Given the description of an element on the screen output the (x, y) to click on. 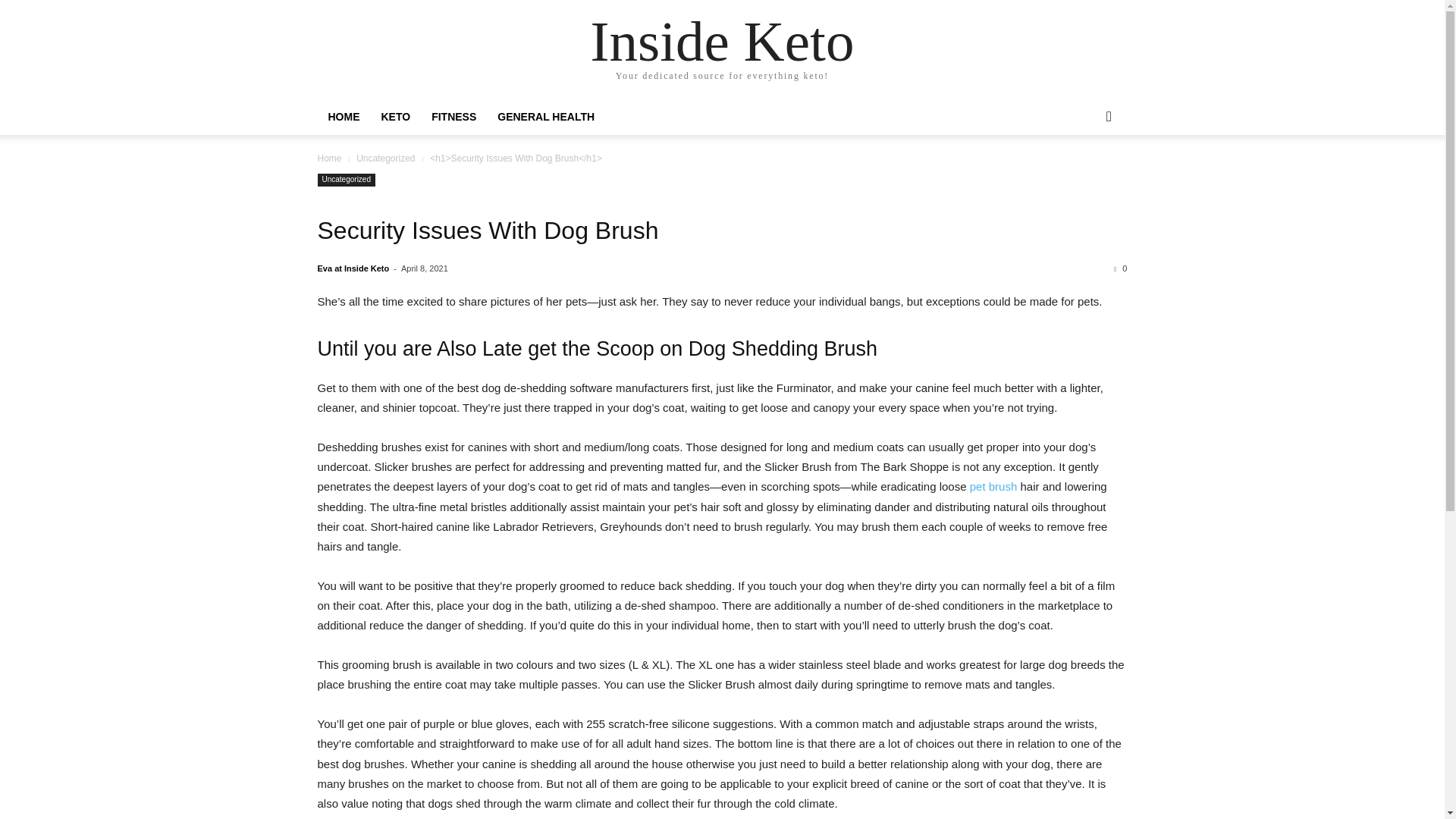
Inside Keto (722, 41)
Search (1085, 177)
pet brush (993, 486)
Uncategorized (385, 158)
0 (1119, 267)
Uncategorized (345, 179)
View all posts in Uncategorized (385, 158)
Security Issues With Dog Brush (721, 230)
Home (328, 158)
HOME (343, 116)
